Given the description of an element on the screen output the (x, y) to click on. 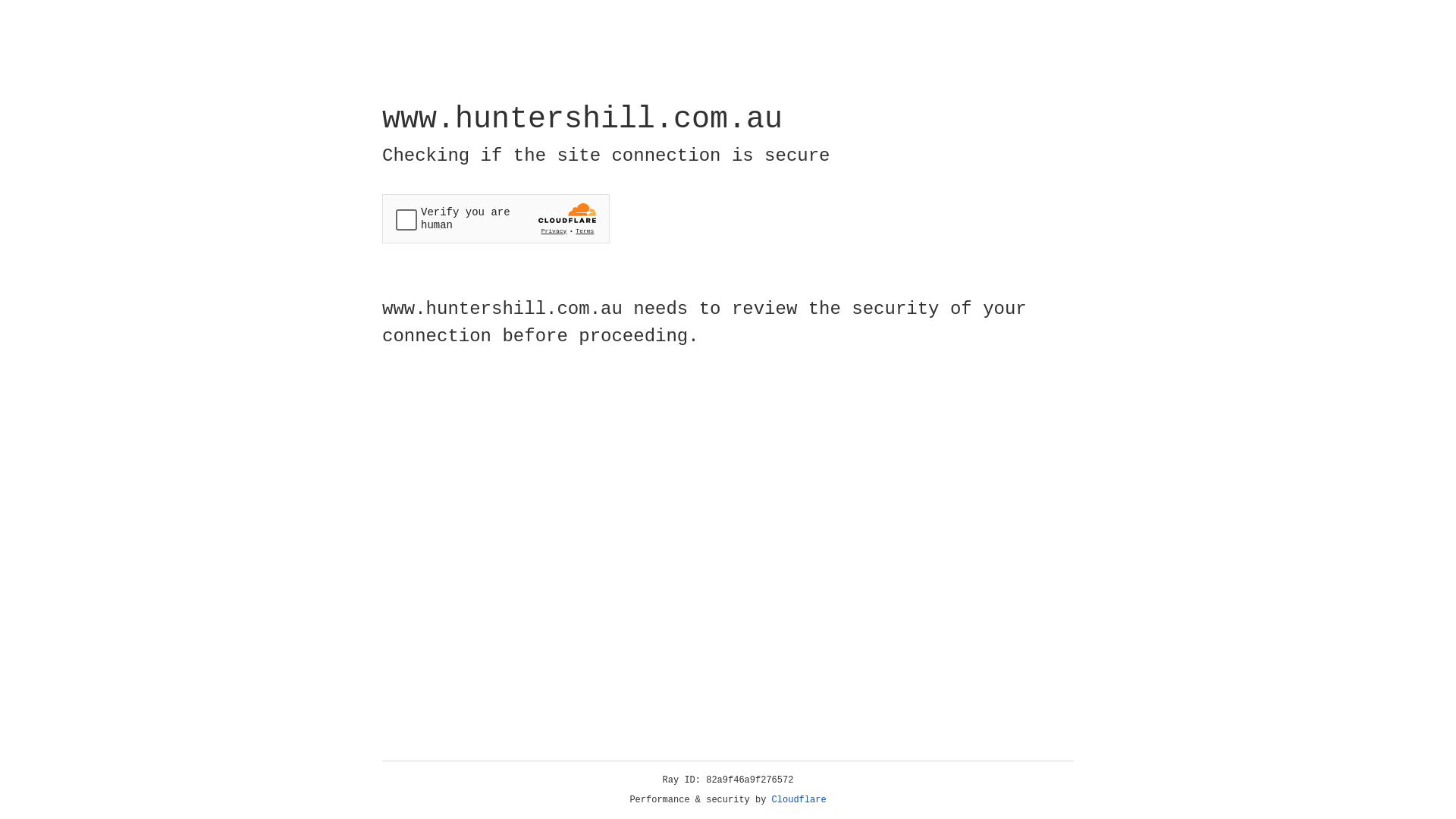
Widget containing a Cloudflare security challenge Element type: hover (495, 218)
Cloudflare Element type: text (798, 799)
